Given the description of an element on the screen output the (x, y) to click on. 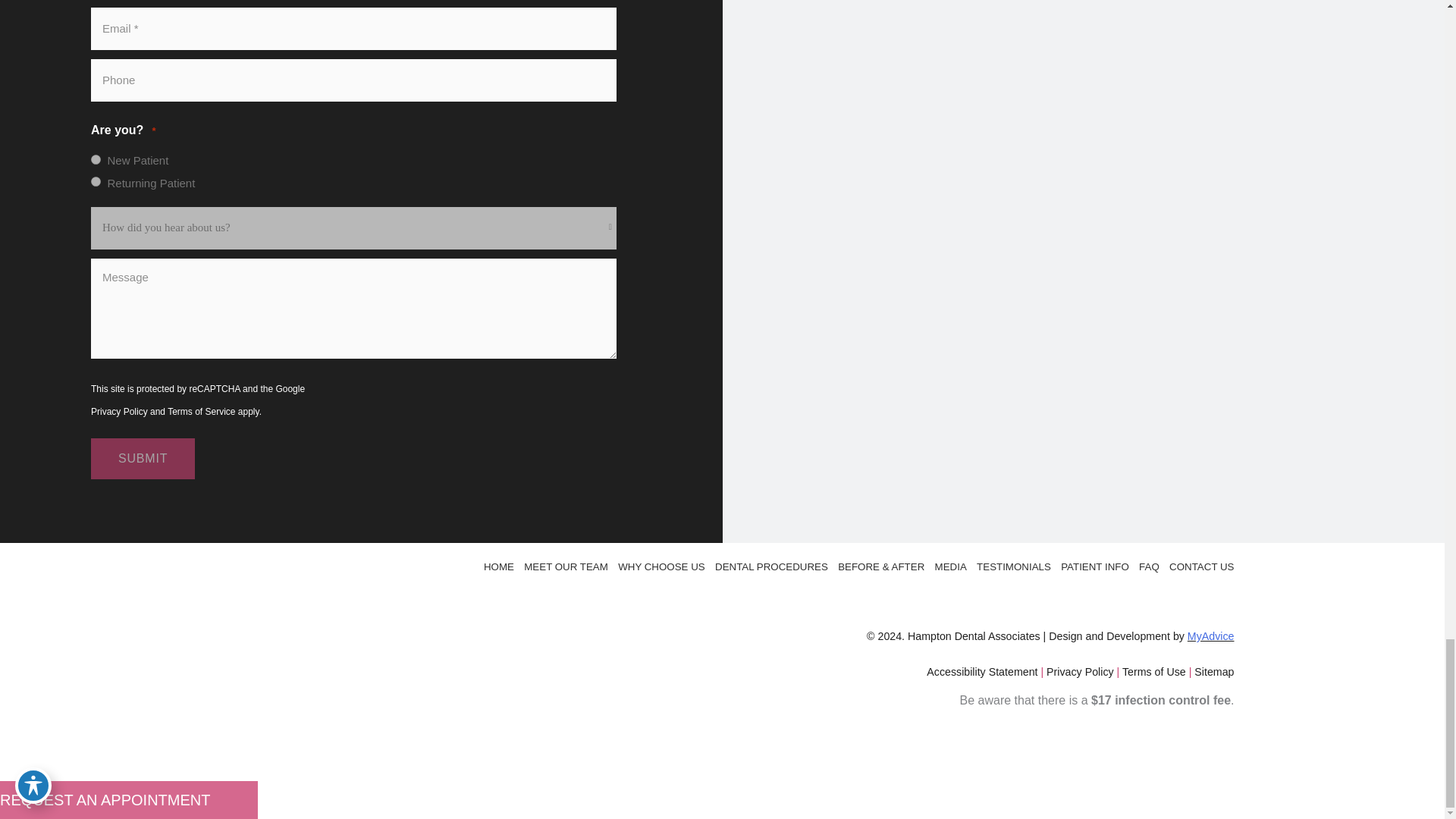
Submit (142, 458)
New Patient (95, 159)
Returning Patient (95, 181)
Map Location (1083, 167)
